Given the description of an element on the screen output the (x, y) to click on. 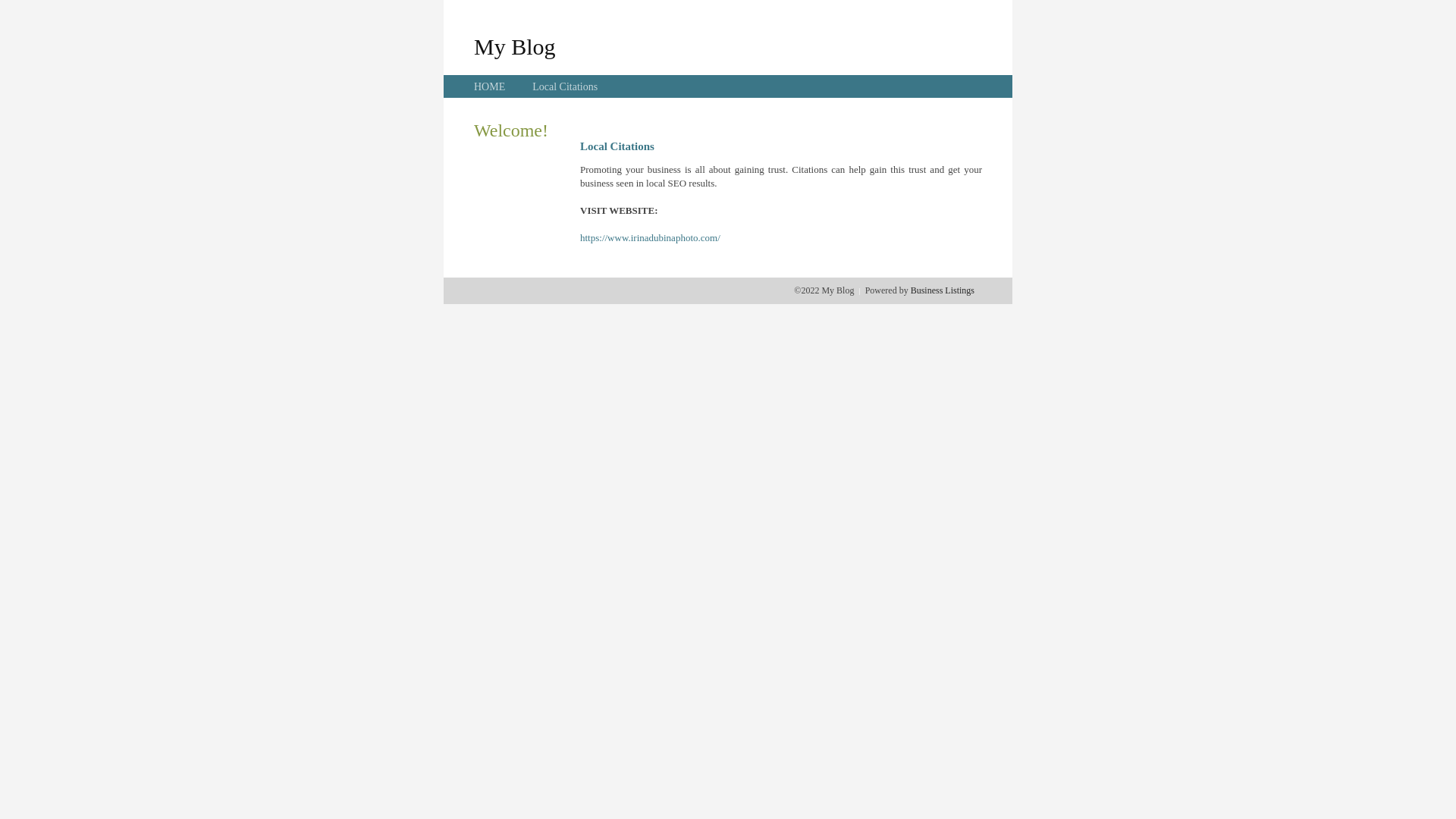
Local Citations Element type: text (564, 86)
My Blog Element type: text (514, 46)
HOME Element type: text (489, 86)
https://www.irinadubinaphoto.com/ Element type: text (650, 237)
Business Listings Element type: text (942, 290)
